Given the description of an element on the screen output the (x, y) to click on. 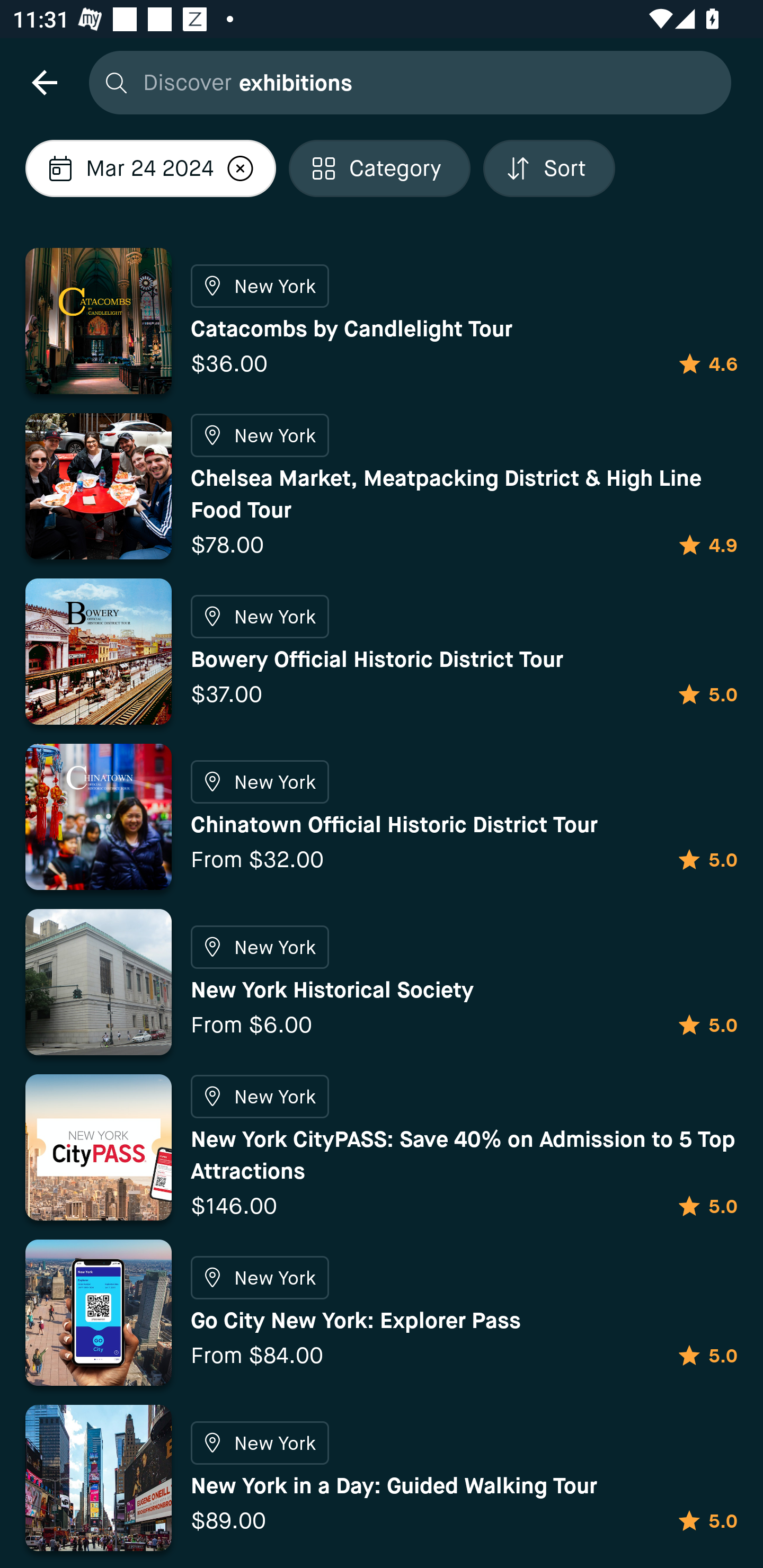
navigation icon (44, 81)
Discover exhibitions (405, 81)
Localized description (240, 168)
Localized description Category (379, 168)
Localized description Sort (548, 168)
